Given the description of an element on the screen output the (x, y) to click on. 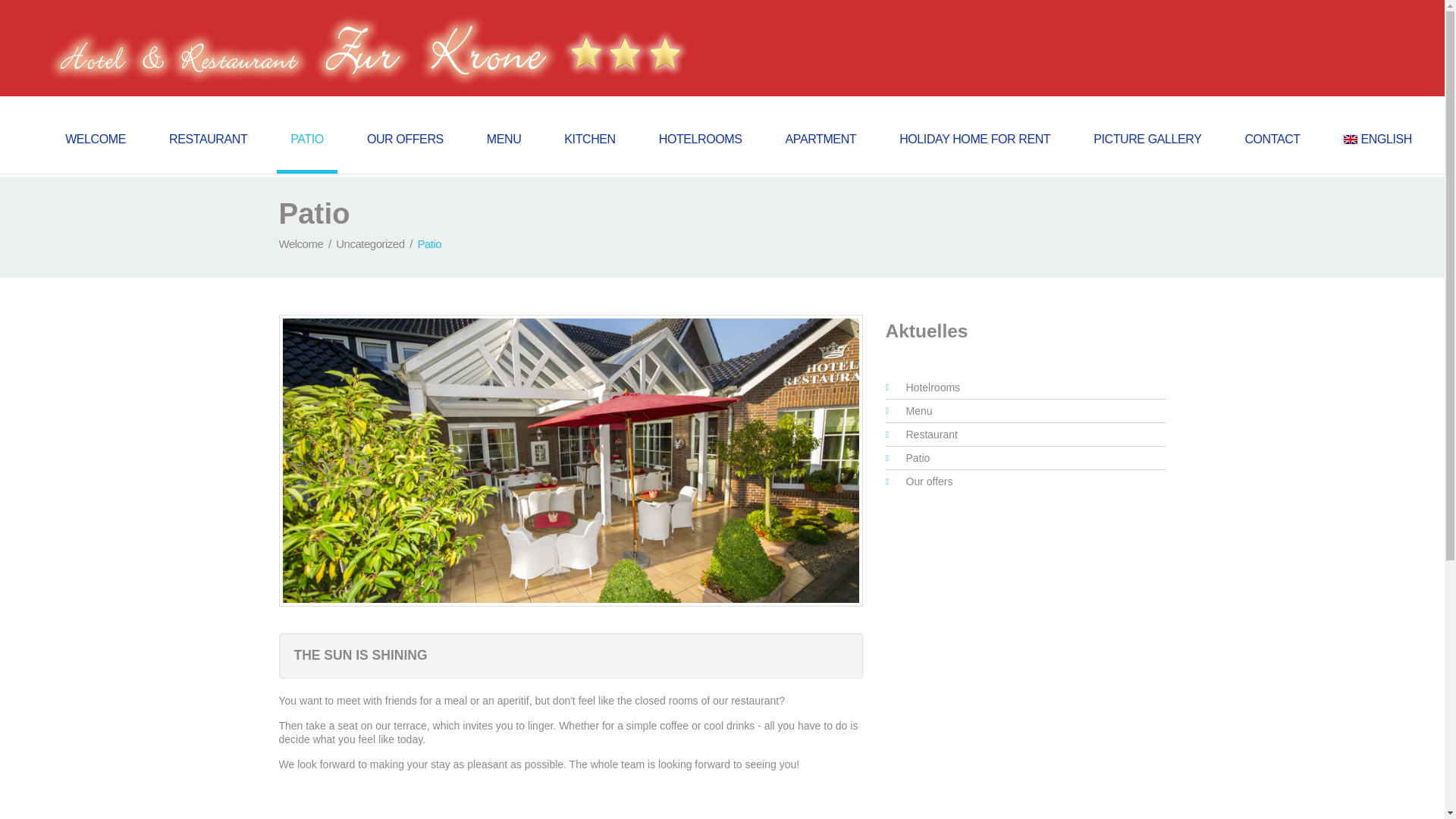
RESTAURANT (207, 152)
CONTACT (1271, 152)
OUR OFFERS (405, 152)
KITCHEN (589, 152)
MENU (504, 152)
WELCOME (94, 152)
Menu (918, 410)
Welcome (301, 243)
Patio (917, 458)
Uncategorized (370, 243)
